Given the description of an element on the screen output the (x, y) to click on. 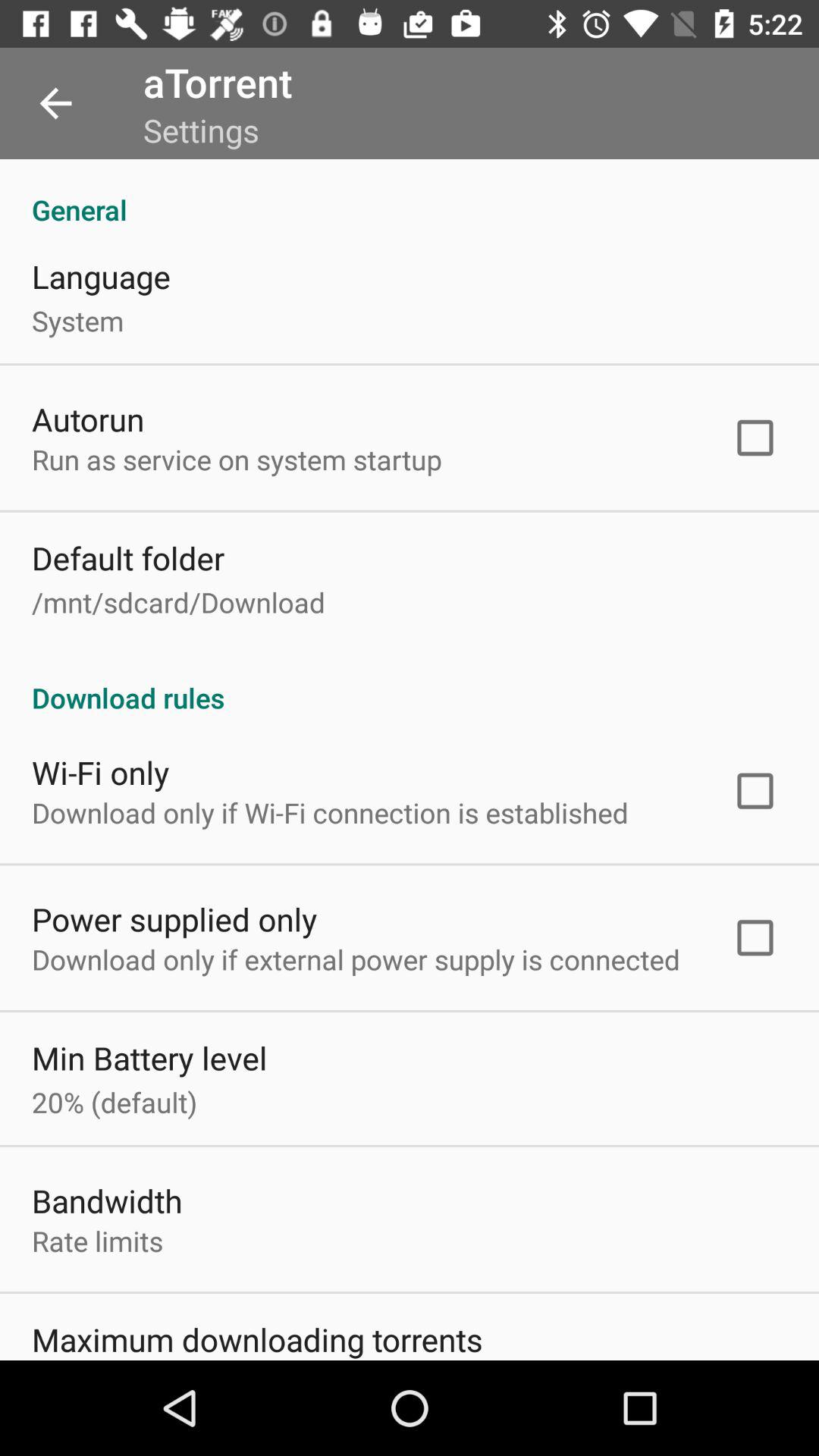
flip to the maximum downloading torrents item (256, 1338)
